Given the description of an element on the screen output the (x, y) to click on. 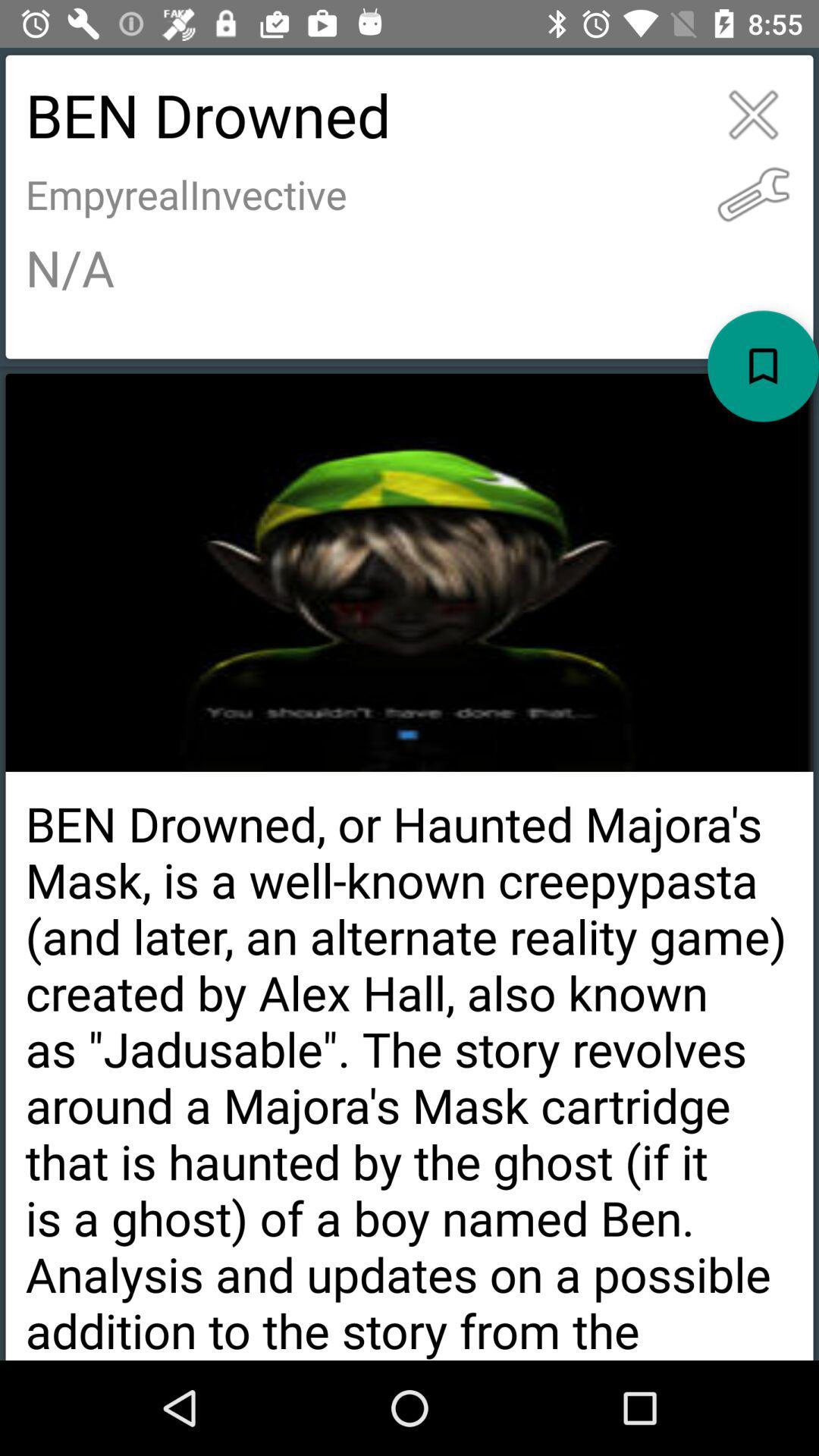
turn off icon to the right of the ben drowned icon (753, 194)
